Given the description of an element on the screen output the (x, y) to click on. 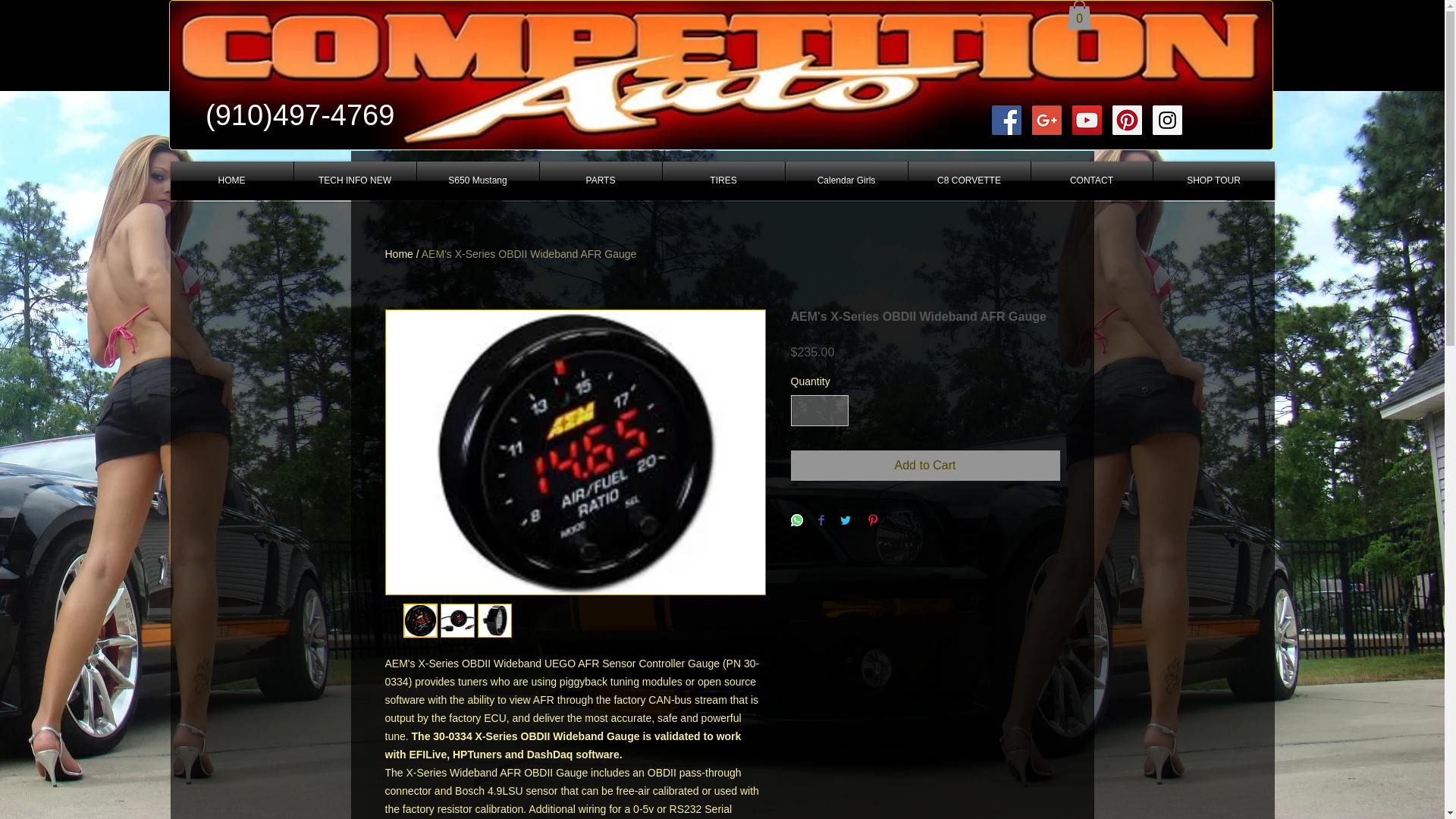
HOME (231, 180)
1 (818, 409)
TIRES (723, 180)
C8 CORVETTE (969, 180)
Facebook Like (1211, 120)
SHOP TOUR (1213, 180)
Home (399, 254)
S650 Mustang (477, 180)
Calendar Girls (846, 180)
AEM's X-Series OBDII Wideband AFR Gauge (529, 254)
Add to Cart (924, 465)
PARTS (601, 180)
CONTACT (1091, 180)
